Given the description of an element on the screen output the (x, y) to click on. 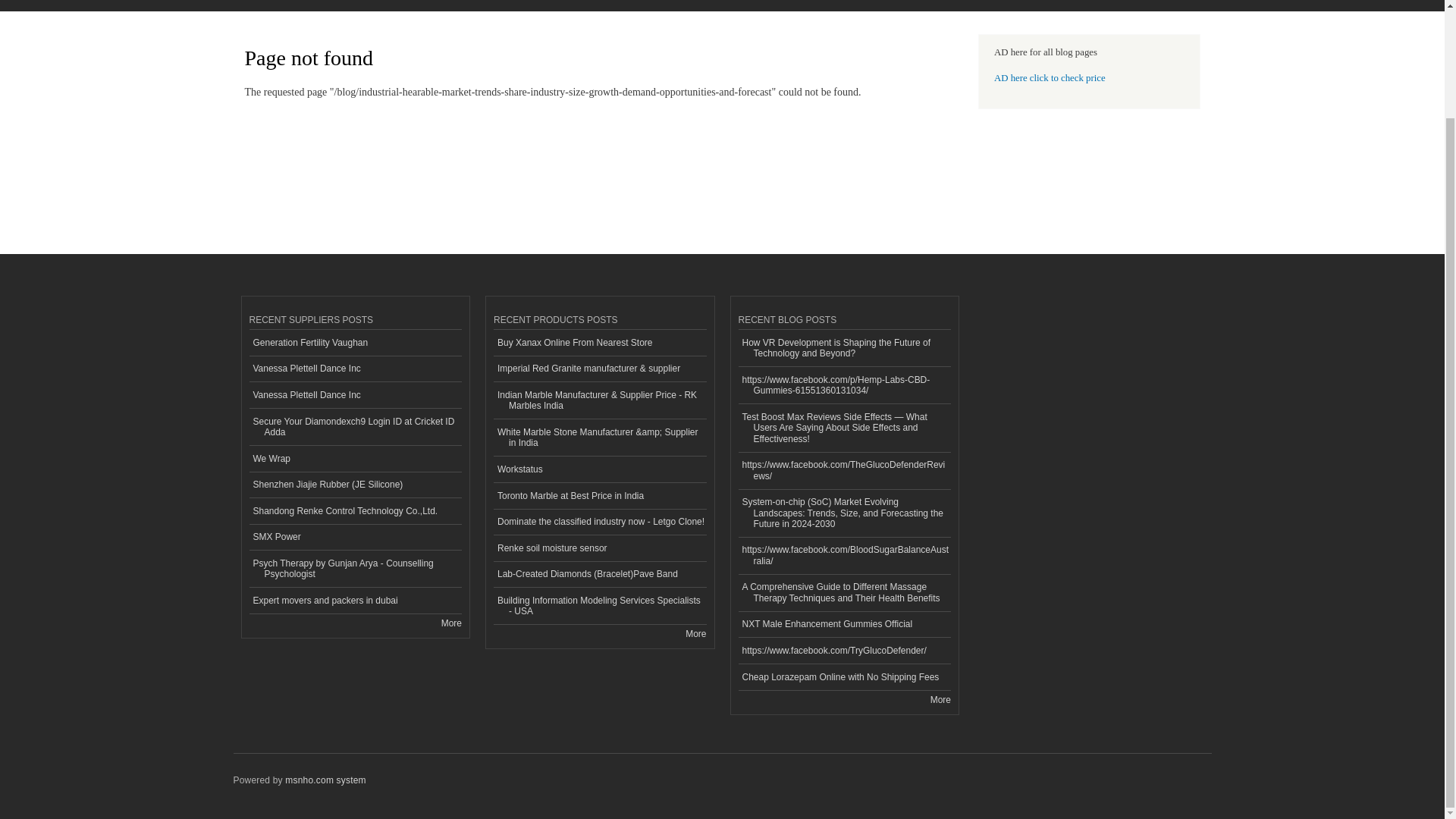
Renke soil moisture sensor (599, 548)
NXT Male Enhancement Gummies Official (845, 624)
Shandong Renke Control Technology Co.,Ltd. (354, 510)
Workstatus (599, 469)
More (451, 623)
Building Information Modeling Services Specialists - USA (599, 606)
AD here click to check price (1049, 77)
Secure Your Diamondexch9 Login ID at Cricket ID Adda (354, 426)
More (695, 633)
